Given the description of an element on the screen output the (x, y) to click on. 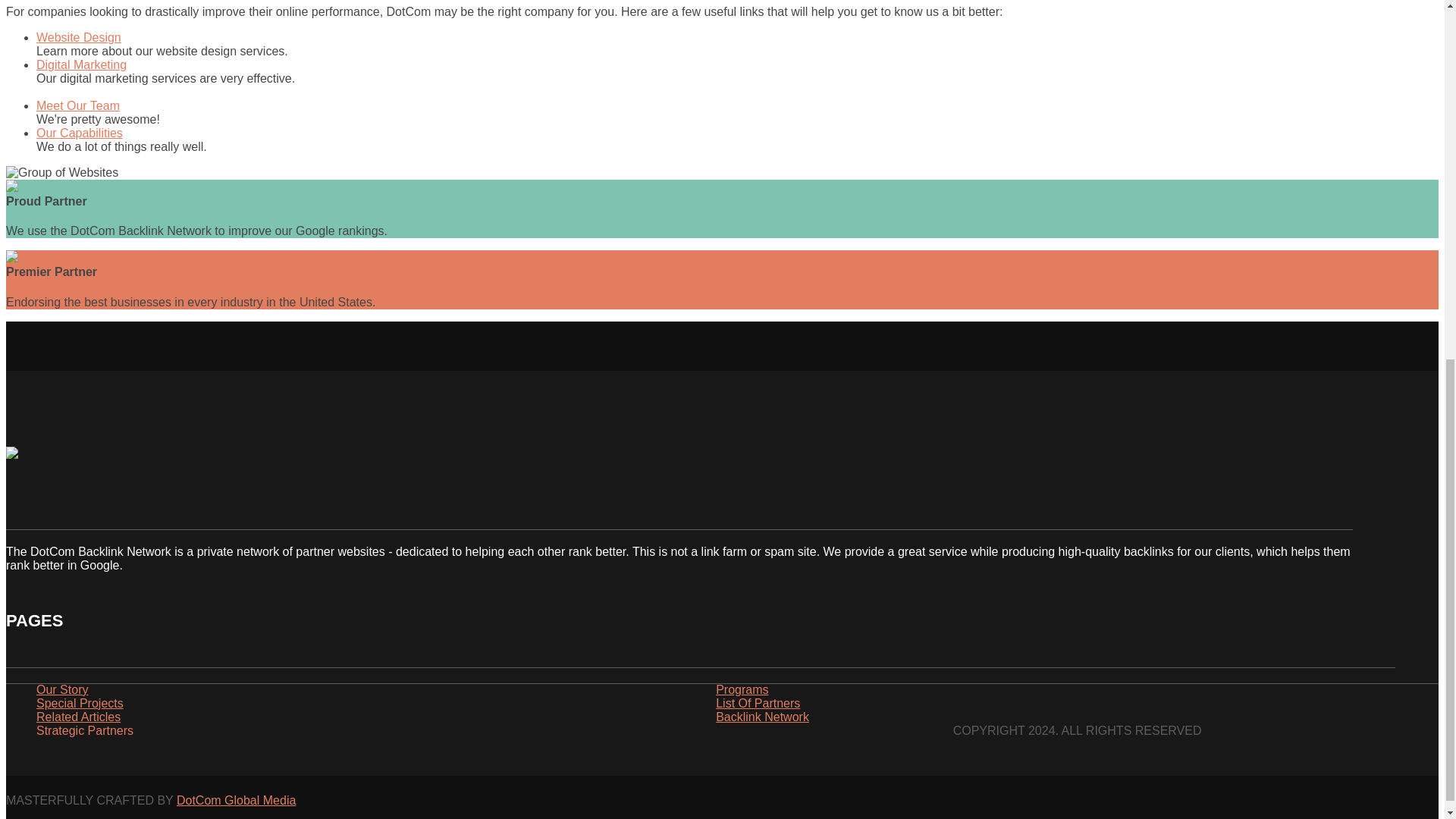
Programs (742, 691)
Meet Our Team (77, 105)
Website Design (78, 37)
Strategic Partners (84, 732)
DotCom Global Media (235, 799)
Related Articles (78, 718)
List Of Partners (757, 704)
Our Story (61, 691)
Special Projects (79, 704)
Our Capabilities (79, 132)
Digital Marketing (81, 64)
Backlink Network (762, 718)
